Given the description of an element on the screen output the (x, y) to click on. 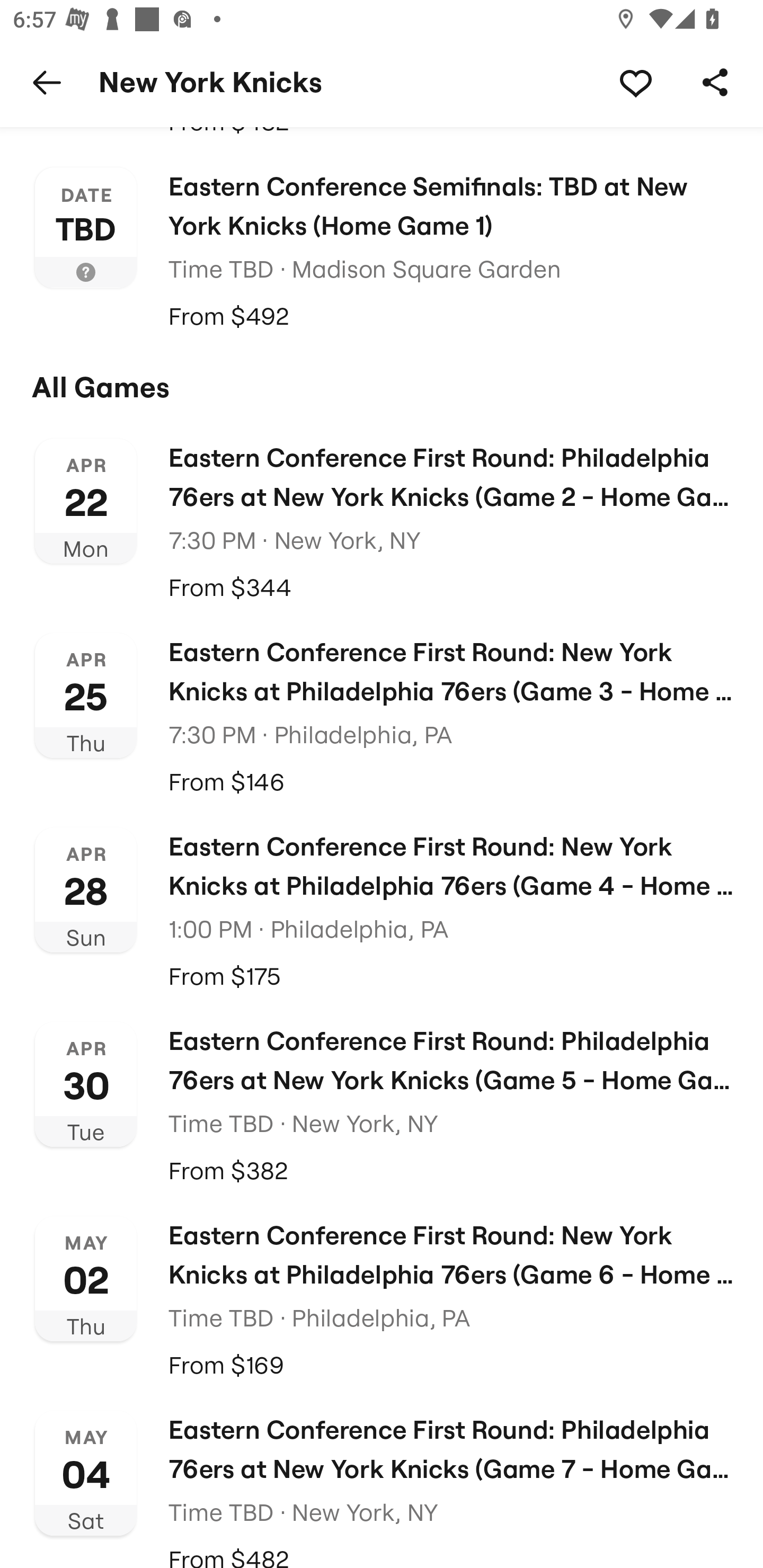
Back (47, 81)
Track this performer (635, 81)
Share this performer (715, 81)
DATE TBD Learn more (85, 227)
